Given the description of an element on the screen output the (x, y) to click on. 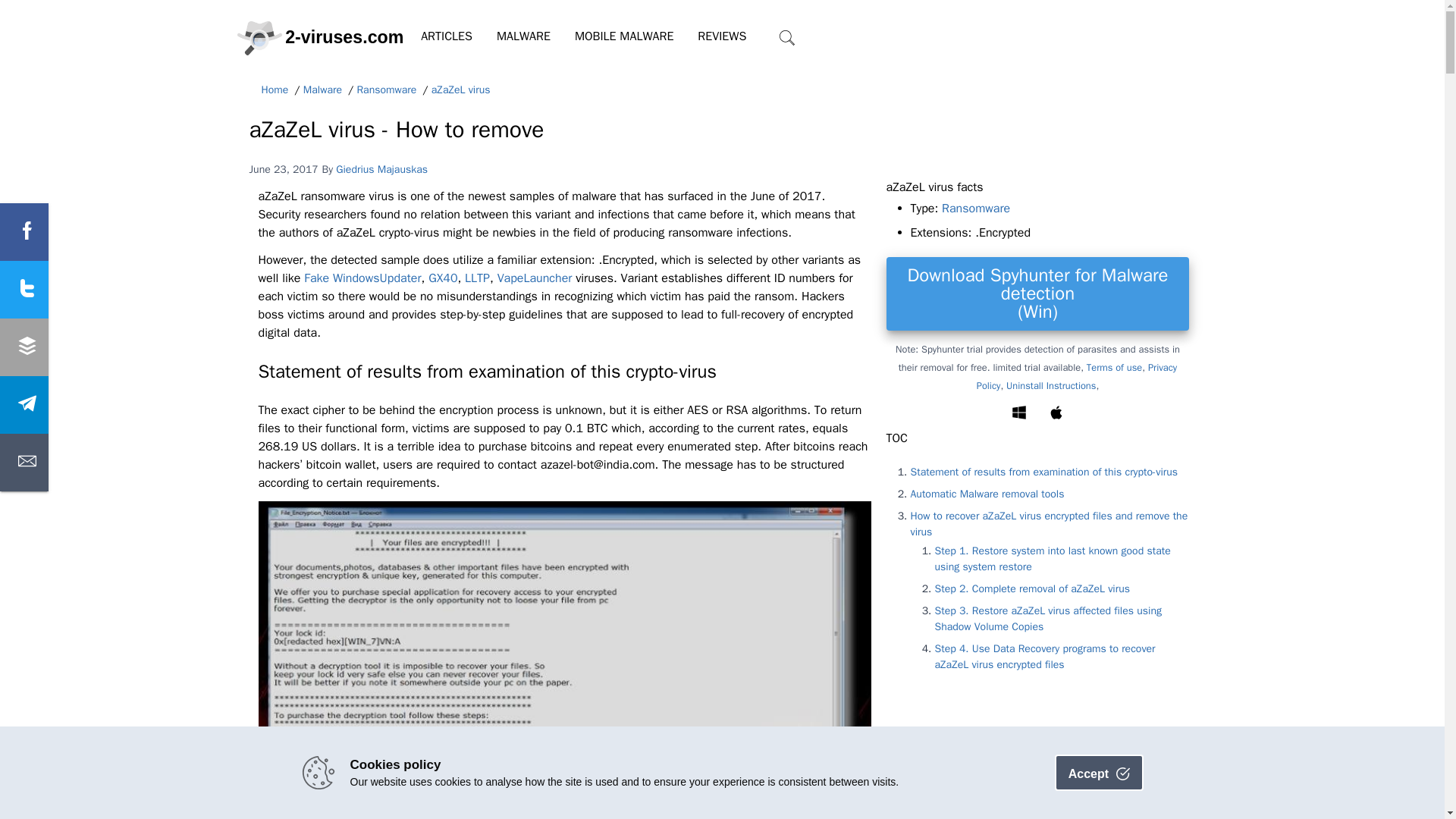
ARTICLES (446, 36)
Fake WindowsUpdater (362, 277)
MALWARE (523, 36)
REVIEWS (721, 36)
Ransomware (386, 90)
aZaZeL virus (460, 90)
GX40 (442, 277)
Malware (322, 90)
VapeLauncher (534, 277)
Home (274, 90)
